Given the description of an element on the screen output the (x, y) to click on. 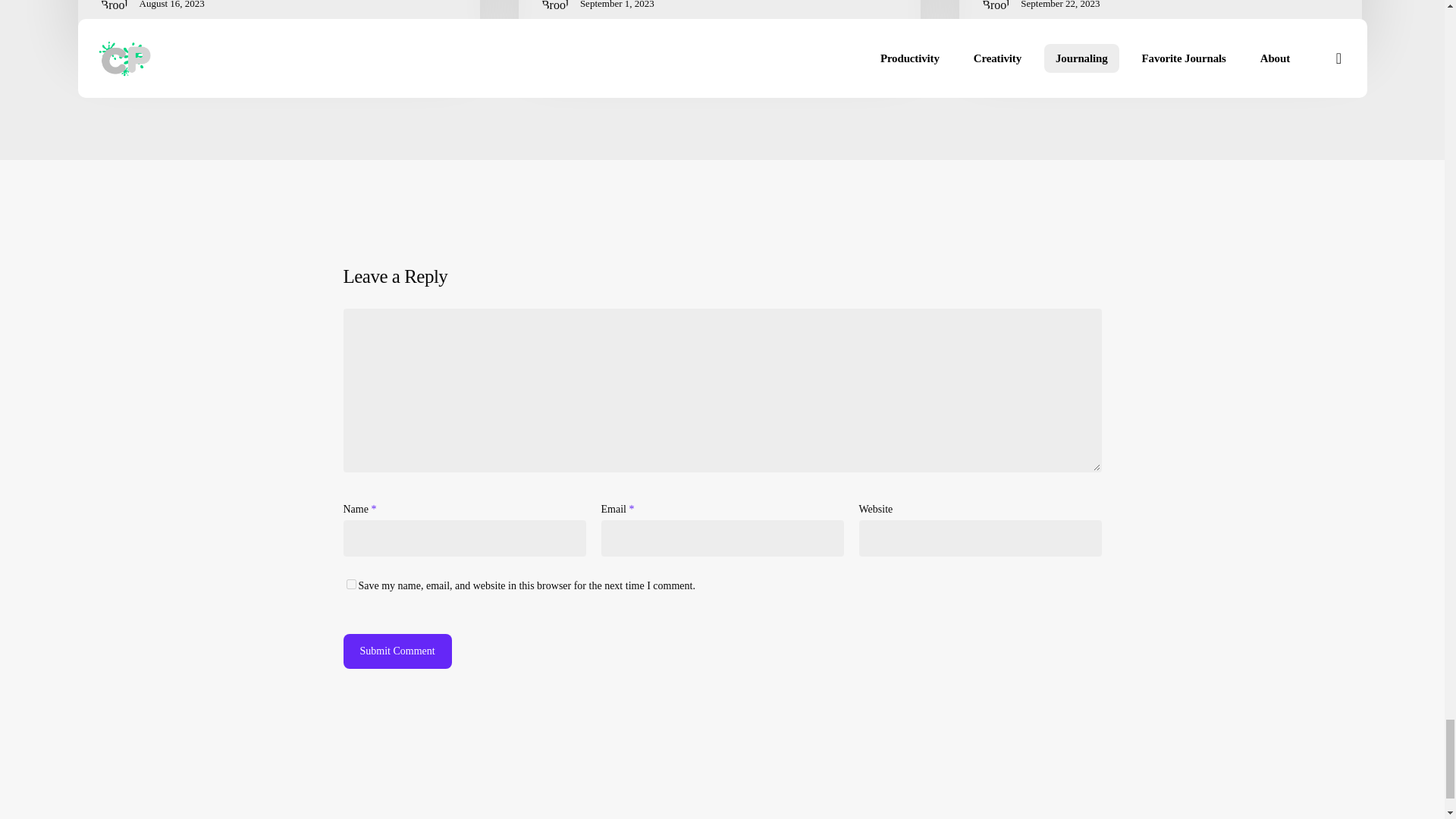
Submit Comment (396, 651)
yes (350, 583)
